Given the description of an element on the screen output the (x, y) to click on. 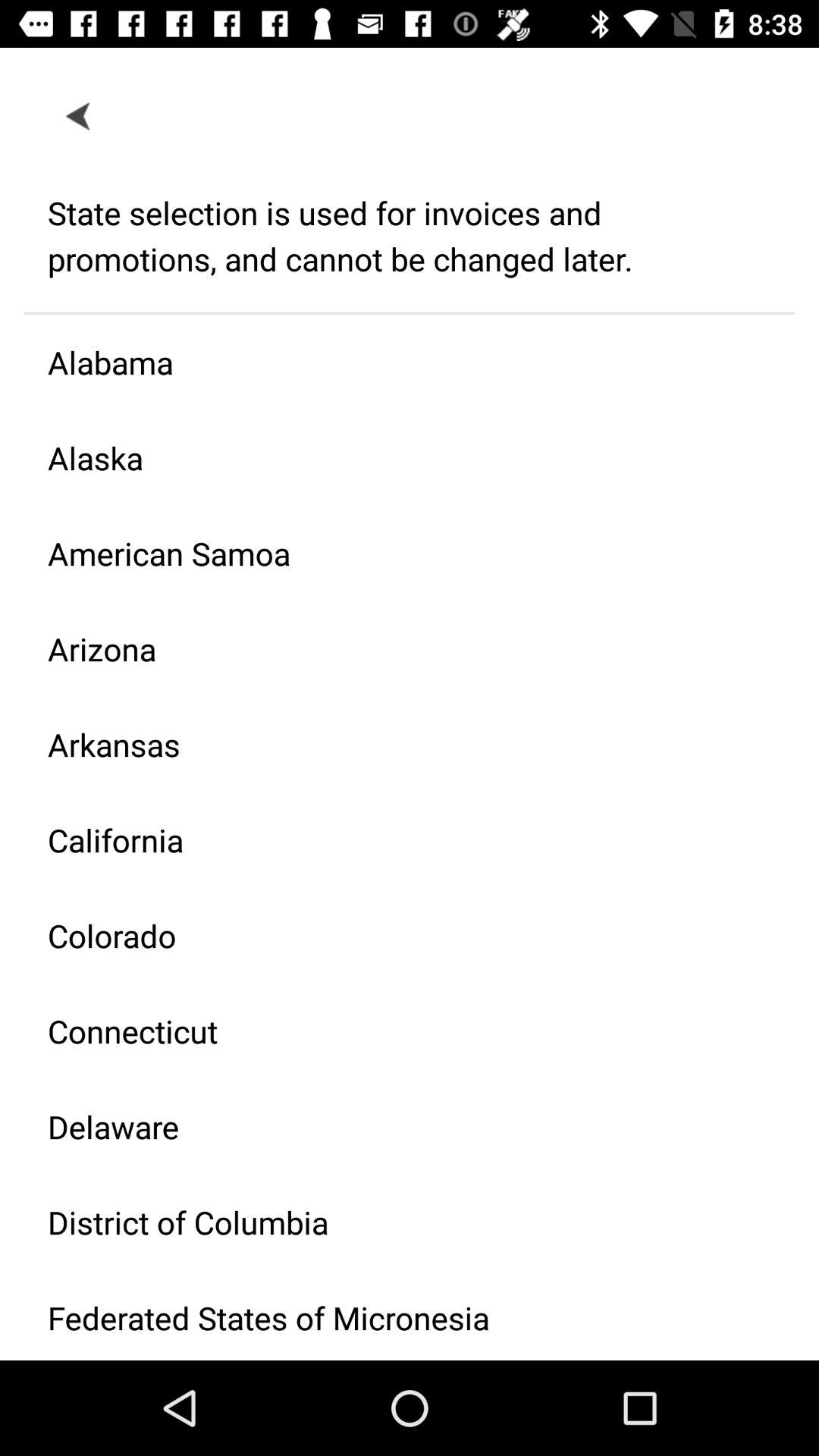
select the district of columbia icon (397, 1221)
